Given the description of an element on the screen output the (x, y) to click on. 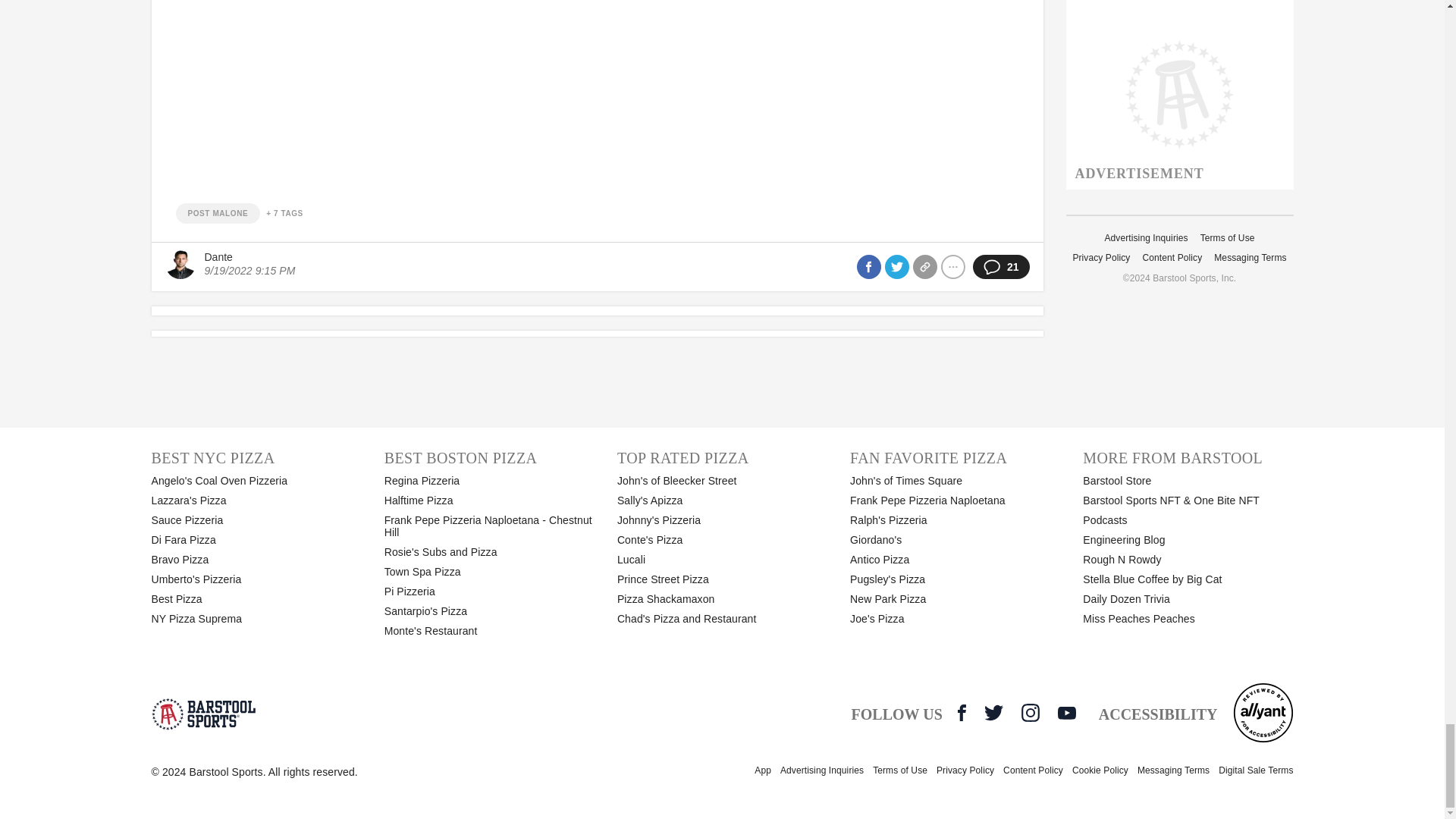
Twitter Icon (993, 712)
Reviewed by Allyant for accessibility (1263, 712)
YouTube Icon (1066, 712)
Instagram Icon (1030, 712)
